Given the description of an element on the screen output the (x, y) to click on. 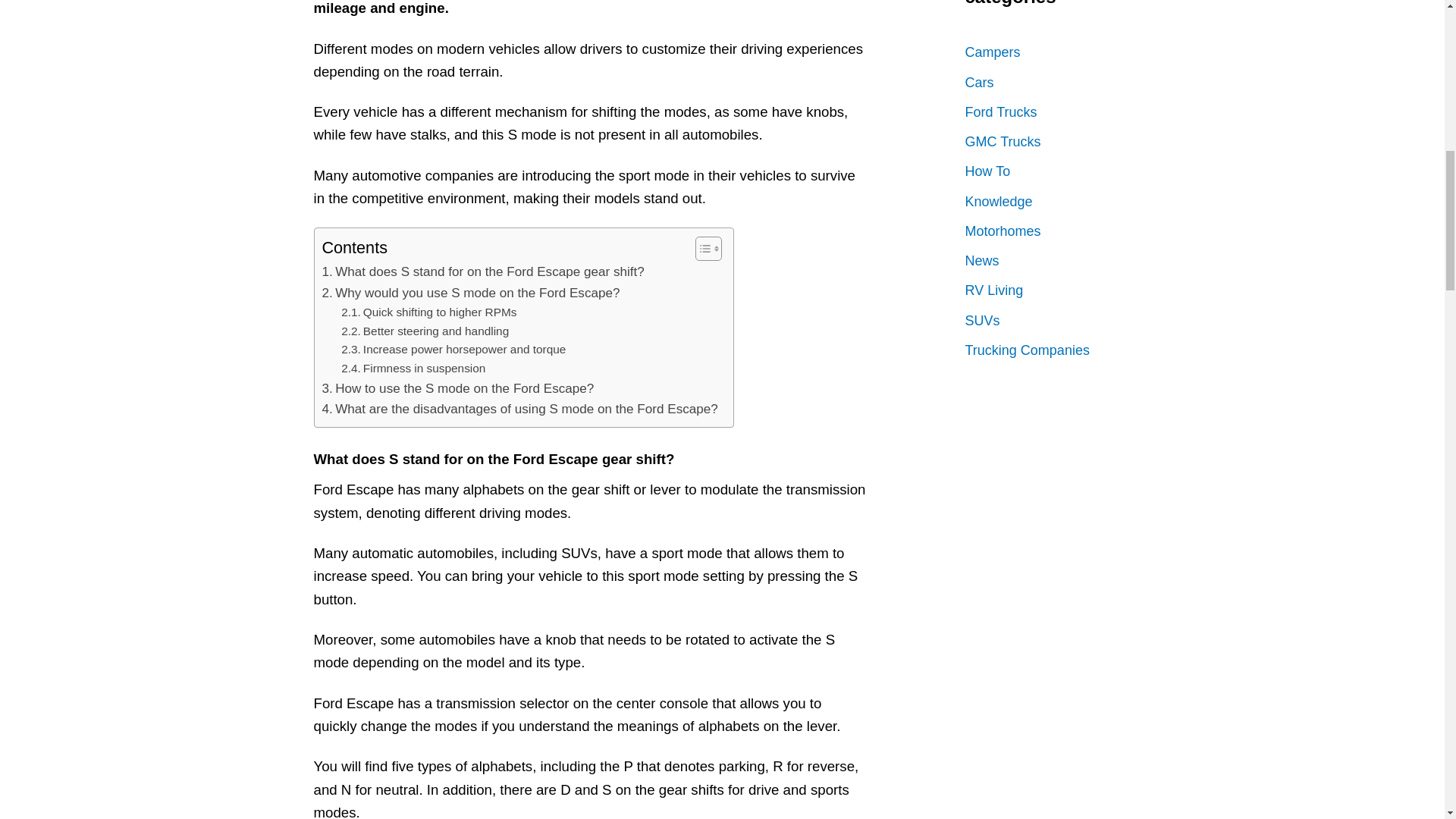
Campers (1062, 52)
GMC Trucks (1062, 142)
Firmness in suspension (412, 368)
Why would you use S mode on the Ford Escape? (470, 292)
Quick shifting to higher RPMs (428, 312)
Why would you use S mode on the Ford Escape? (470, 292)
What does S stand for on the Ford Escape gear shift? (482, 271)
Firmness in suspension (412, 368)
Increase power horsepower and torque (453, 349)
